Given the description of an element on the screen output the (x, y) to click on. 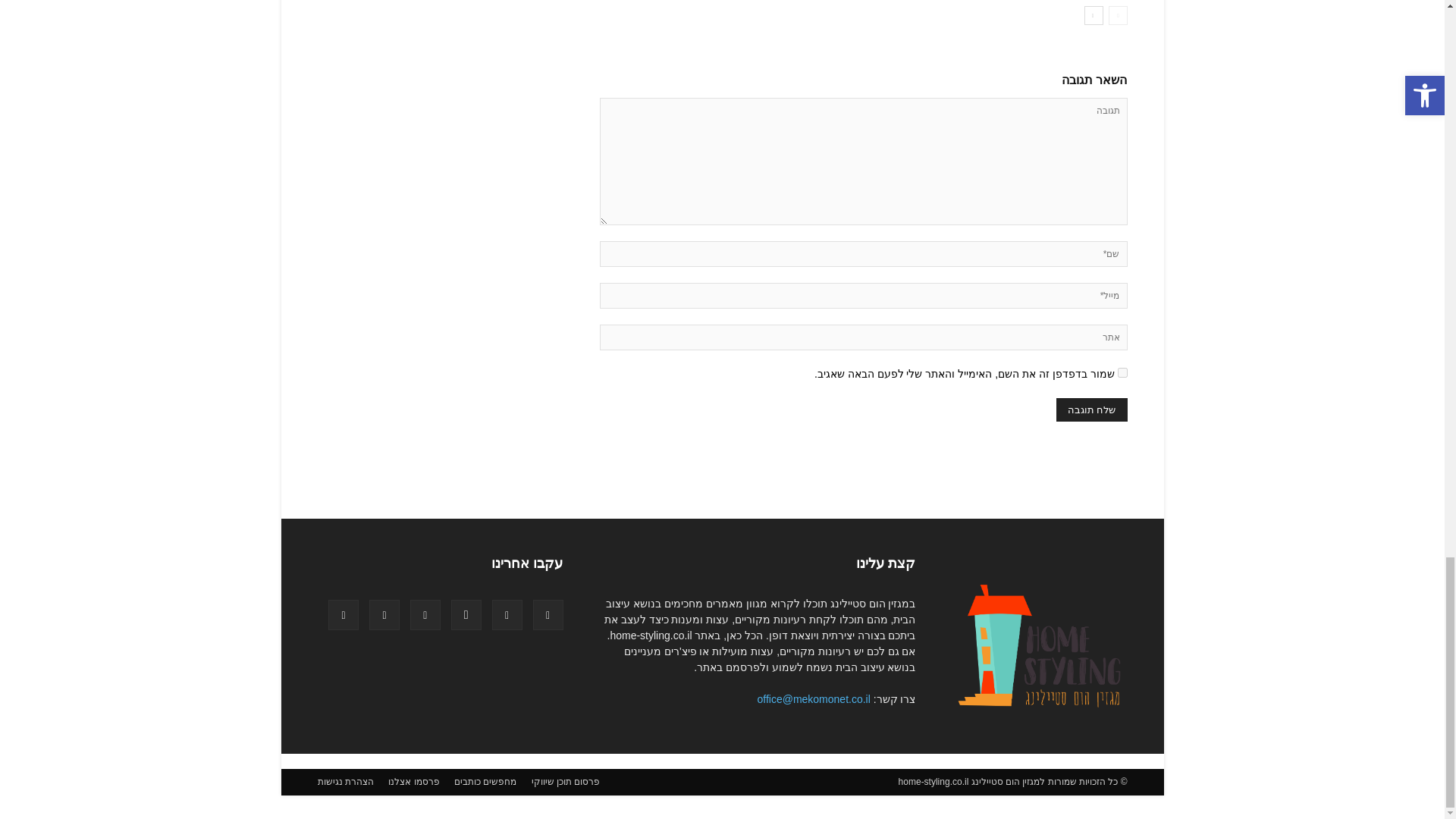
yes (1122, 372)
